Given the description of an element on the screen output the (x, y) to click on. 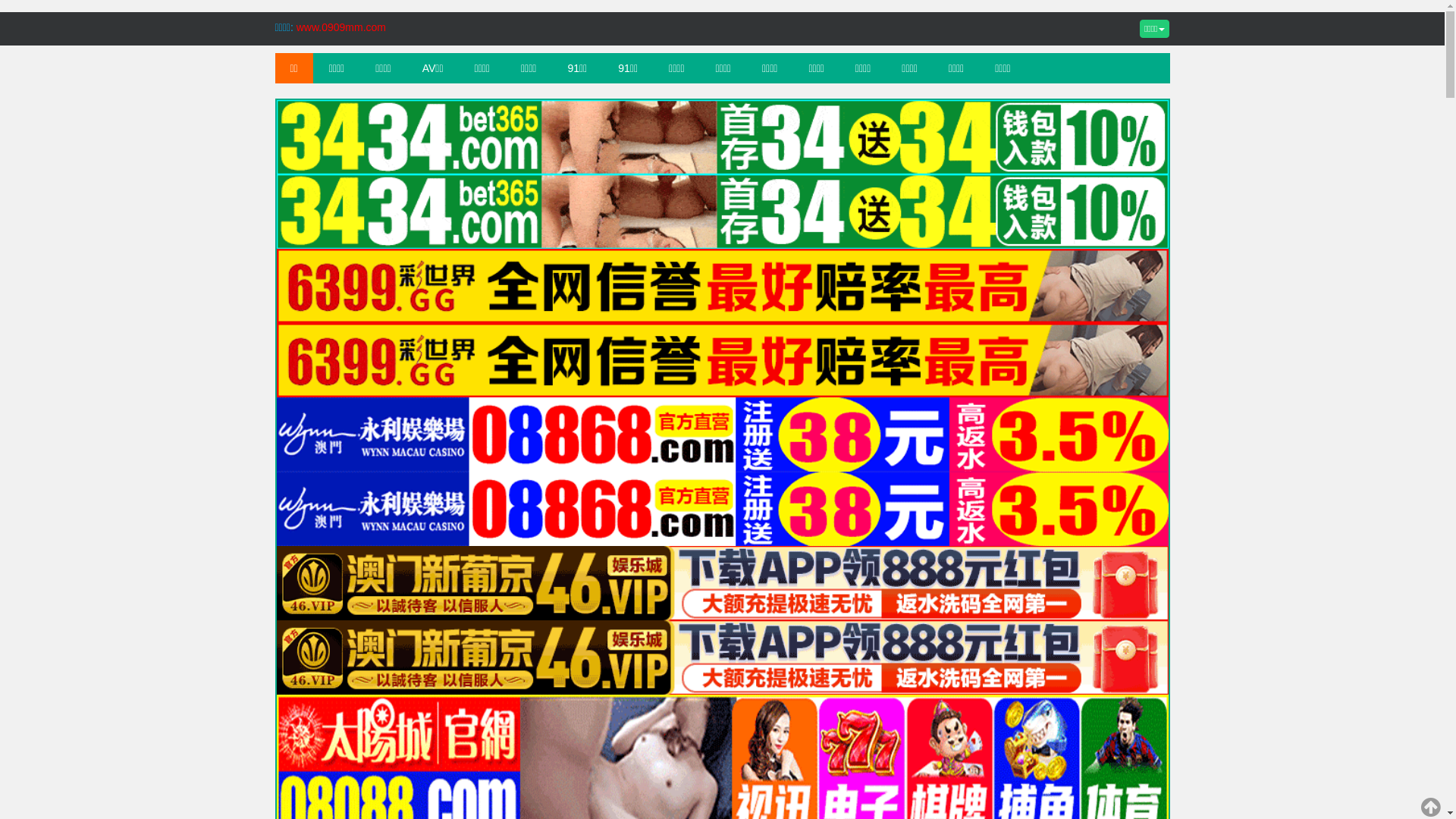
www.0909mm.com Element type: text (340, 27)
